Given the description of an element on the screen output the (x, y) to click on. 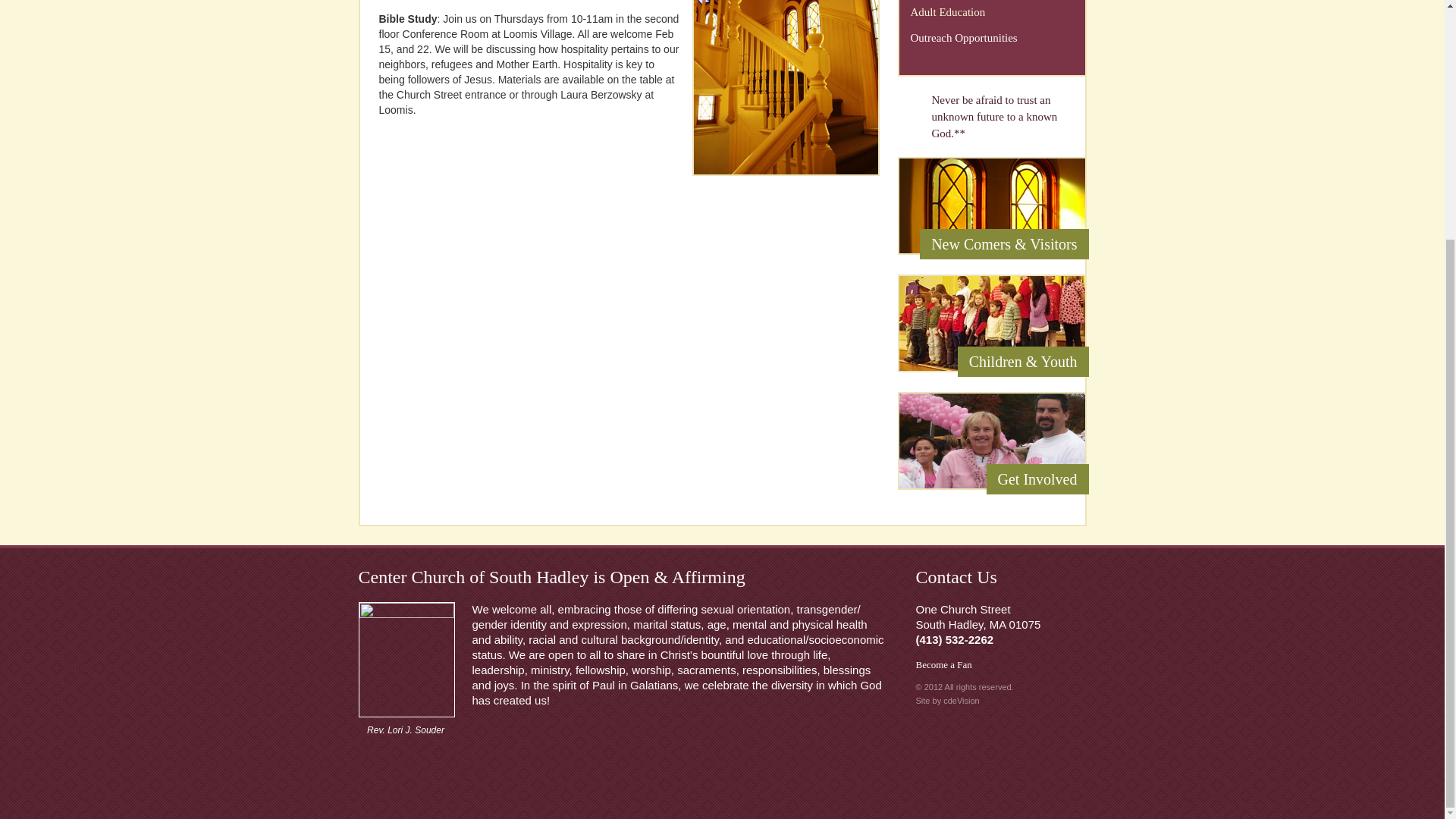
cdeVision (961, 700)
Become a Fan Facebook (970, 664)
Adult Education (991, 12)
Outreach Opportunities (991, 37)
Get Involved (991, 440)
